Given the description of an element on the screen output the (x, y) to click on. 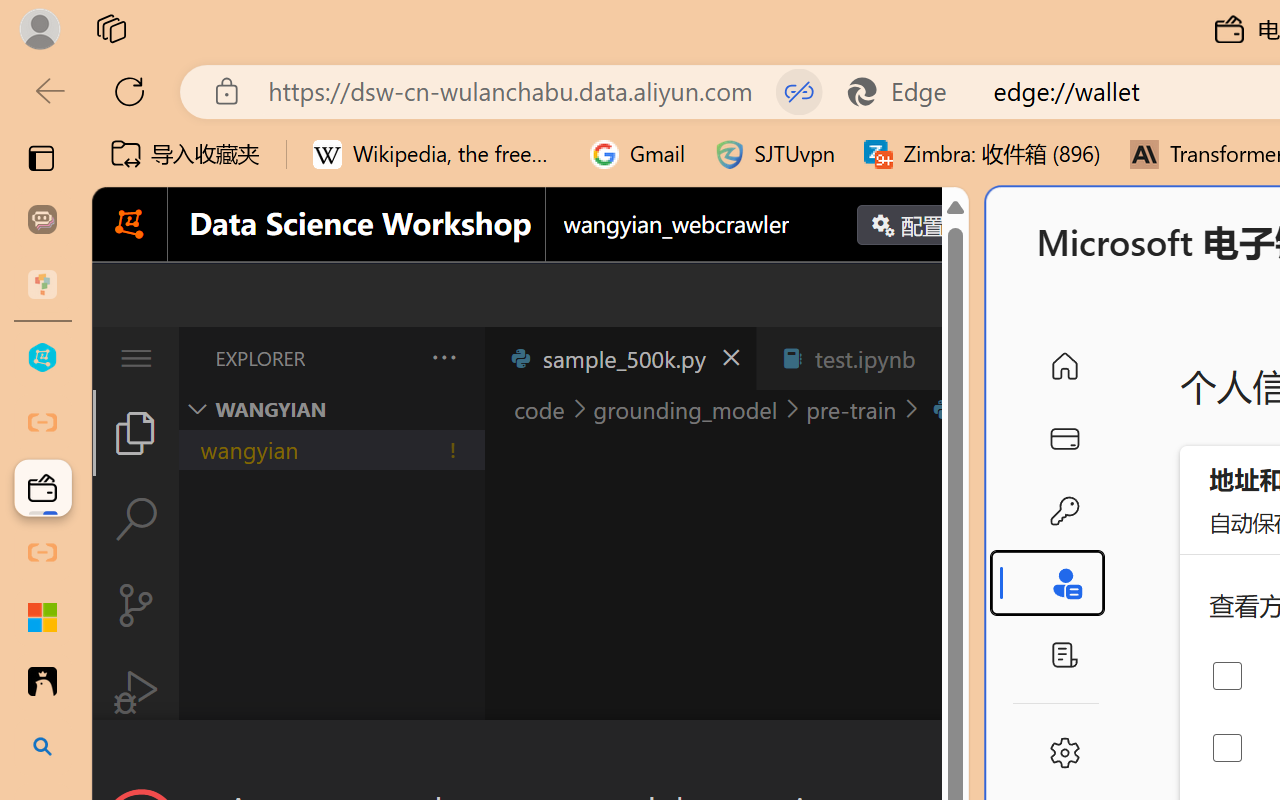
Close (Ctrl+F4) (946, 358)
SJTUvpn (774, 154)
Adjust indents and spacing - Microsoft Support (42, 617)
Explorer (Ctrl+Shift+E) (135, 432)
Class: actions-container (529, 756)
Wikipedia, the free encyclopedia (437, 154)
Tab actions (945, 358)
